Given the description of an element on the screen output the (x, y) to click on. 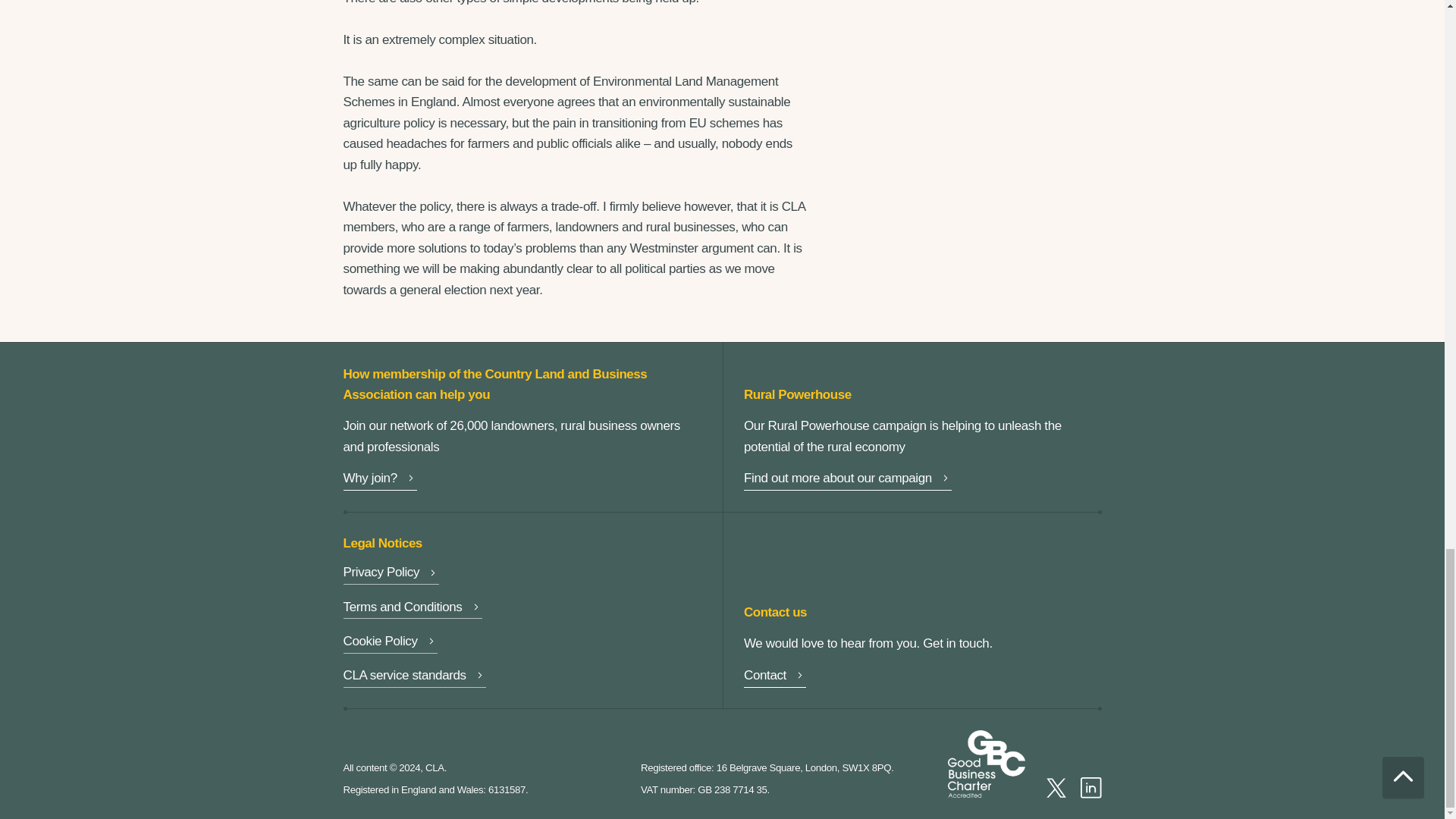
Privacy Policy (390, 574)
CLA service standards (413, 677)
Cookie Policy (389, 643)
Why join? (379, 480)
Contact (775, 677)
Find out more about our campaign (848, 480)
Terms and Conditions (411, 608)
